Given the description of an element on the screen output the (x, y) to click on. 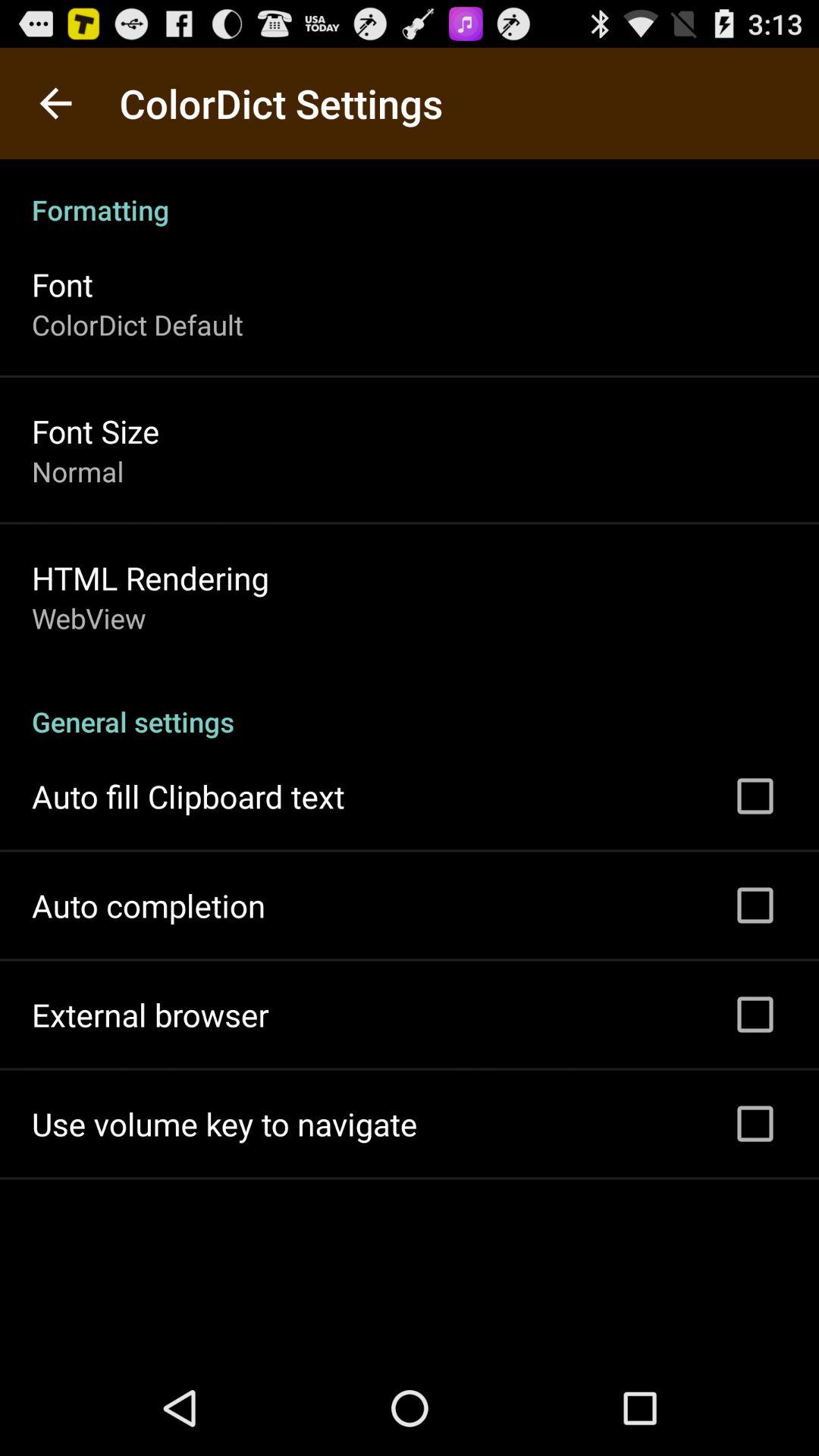
select icon below the font size item (77, 471)
